Given the description of an element on the screen output the (x, y) to click on. 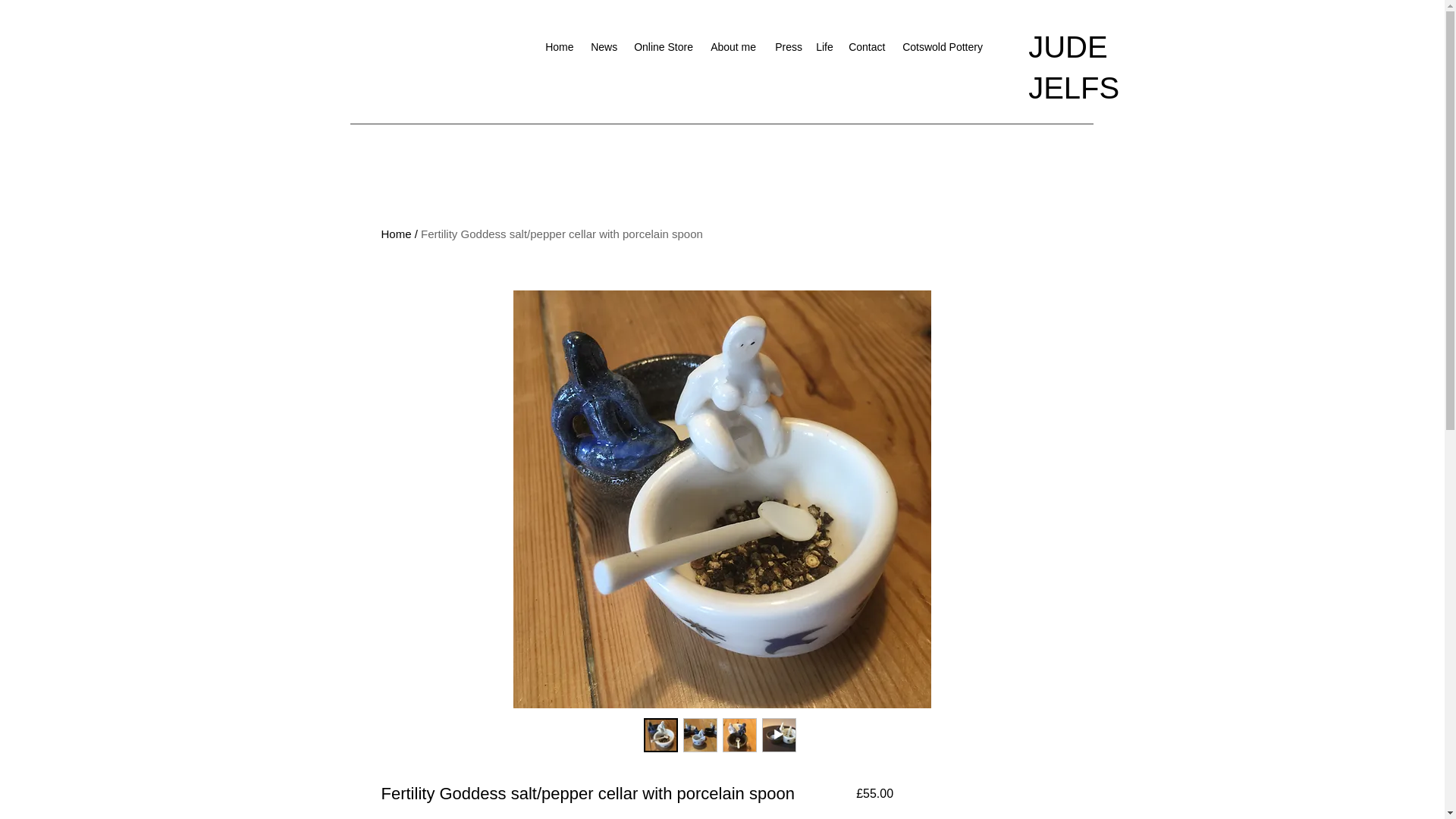
Home (560, 47)
Press (787, 47)
About me (735, 47)
News (604, 47)
Contact (868, 47)
Life (824, 47)
JUDE JELFS (1073, 67)
Home (395, 233)
Cotswold Pottery (943, 47)
Online Store (664, 47)
